Given the description of an element on the screen output the (x, y) to click on. 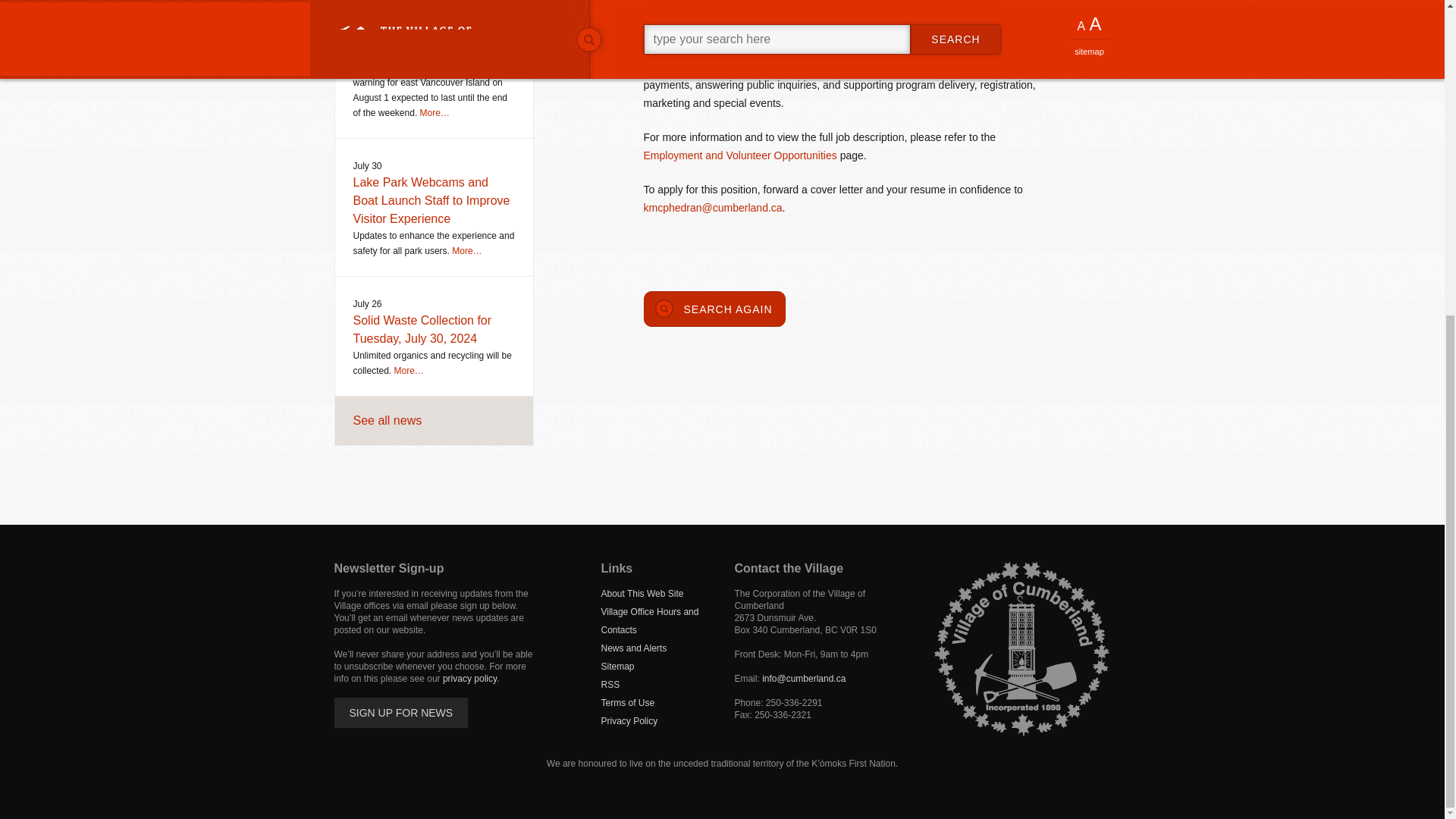
British Columbia (831, 629)
